Given the description of an element on the screen output the (x, y) to click on. 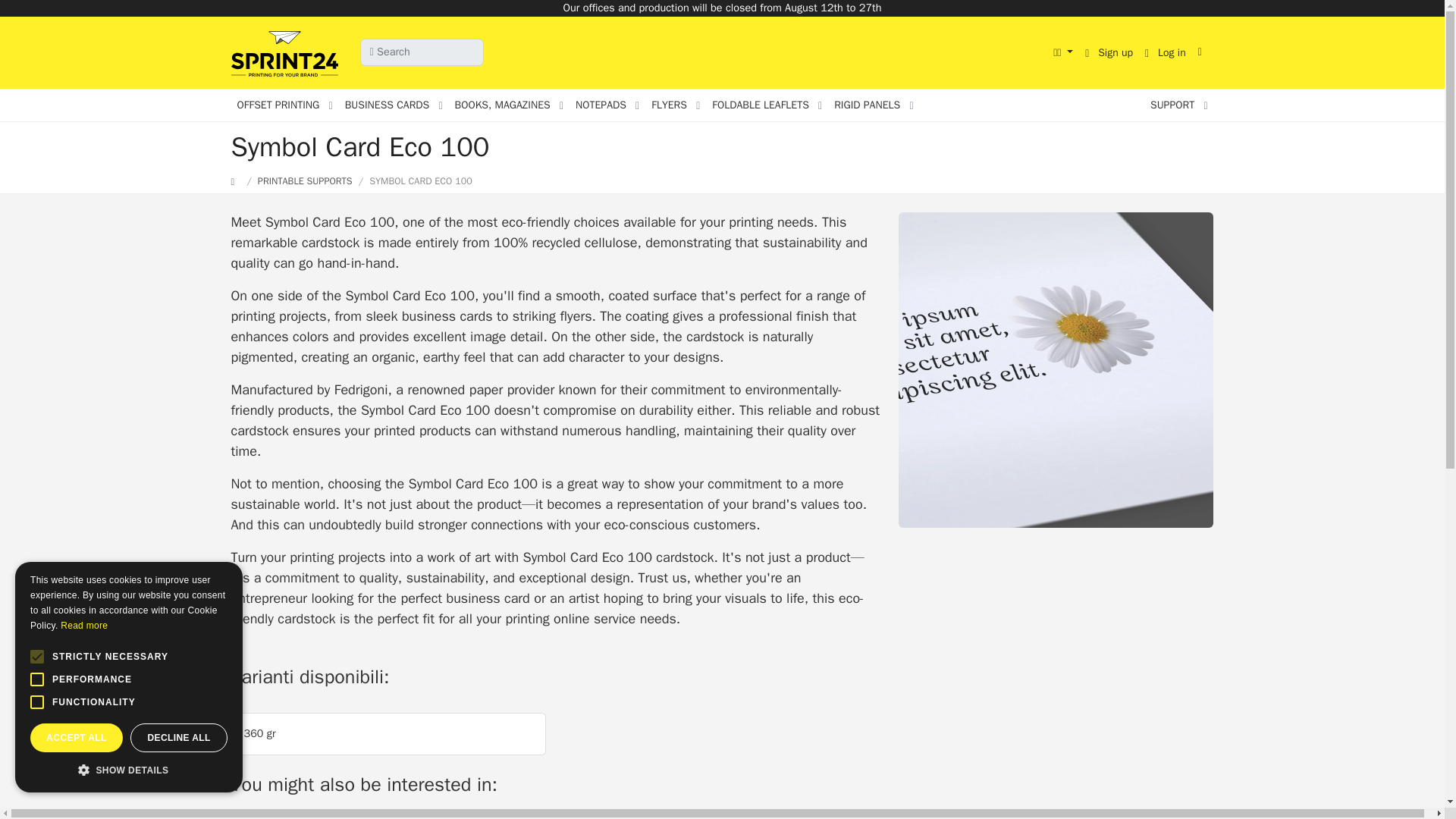
Sign up (1108, 52)
Sprint24 (286, 53)
Shopping cart (1203, 51)
Log in (1165, 52)
Symbol Card Eco 100 (1055, 369)
360 gr (388, 733)
